Given the description of an element on the screen output the (x, y) to click on. 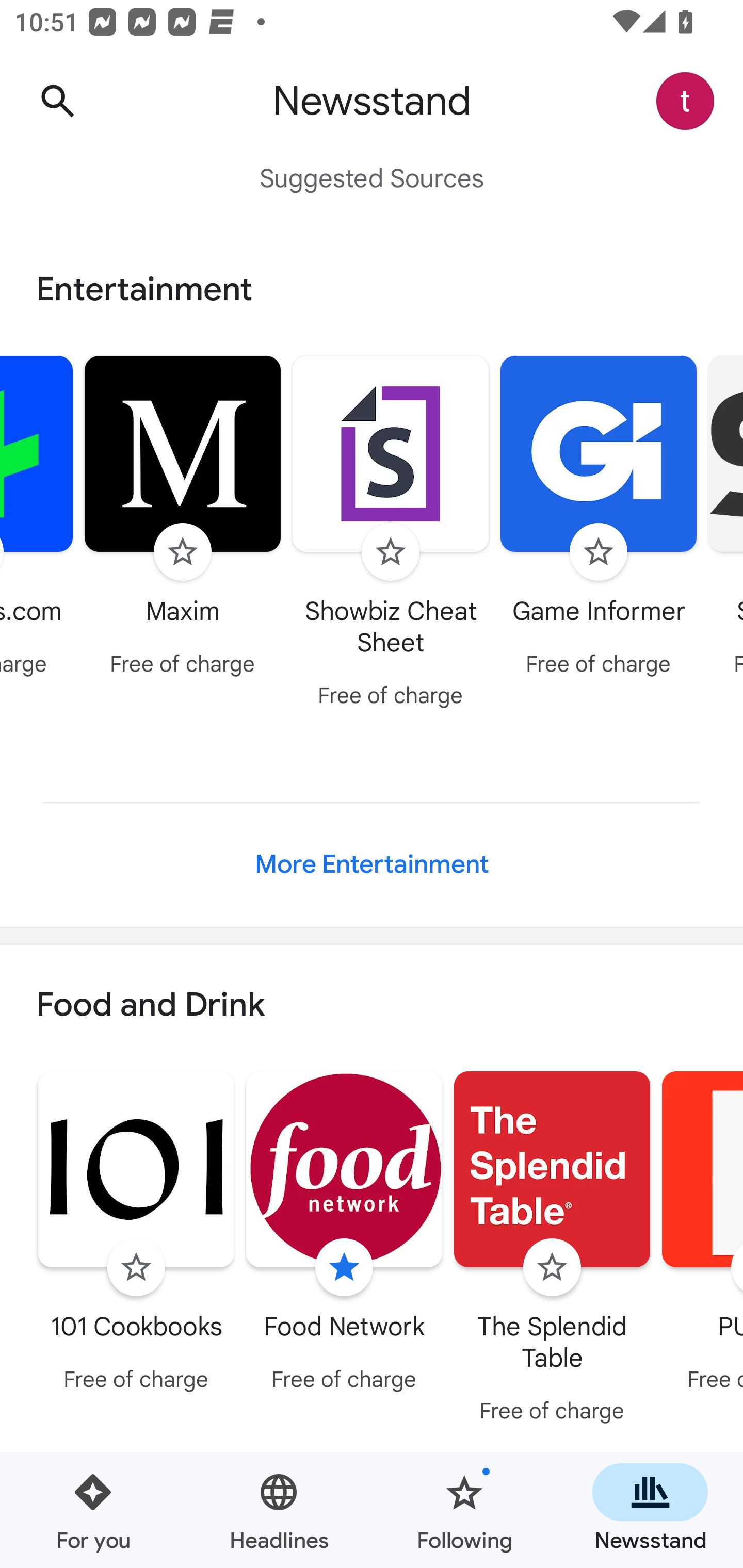
Search (57, 100)
Entertainment (371, 288)
Follow Maxim Free of charge (182, 517)
Follow Showbiz Cheat Sheet Free of charge (390, 534)
Follow Game Informer Free of charge (598, 517)
Follow (182, 551)
Follow (390, 551)
Follow (598, 551)
More Entertainment (371, 864)
Food and Drink (371, 1005)
Follow 101 Cookbooks Free of charge (136, 1234)
Unfollow Food Network Free of charge (344, 1234)
Follow The Splendid Table Free of charge (552, 1250)
Follow (135, 1267)
Unfollow (343, 1267)
Follow (552, 1267)
For you (92, 1509)
Headlines (278, 1509)
Following (464, 1509)
Newsstand (650, 1509)
